Given the description of an element on the screen output the (x, y) to click on. 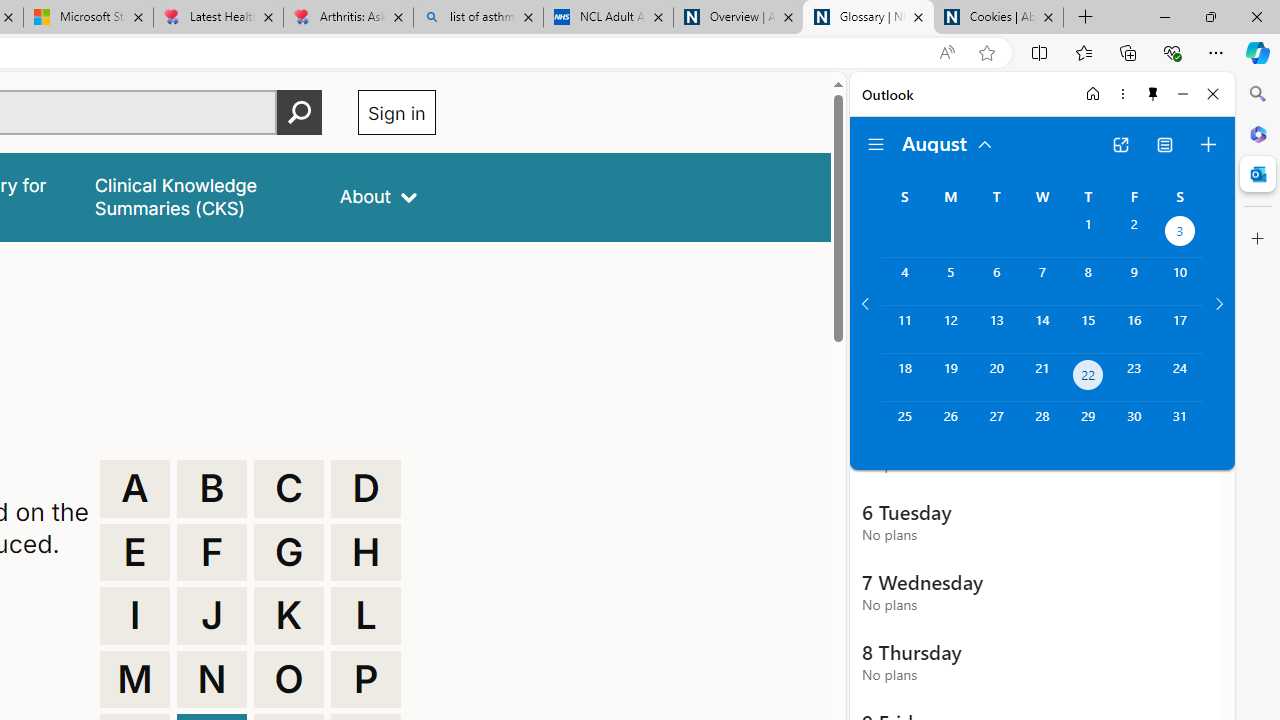
Glossary | NICE (868, 17)
B (212, 488)
M (134, 679)
New Tab (1085, 17)
Wednesday, August 28, 2024.  (1042, 425)
Close tab (1048, 16)
C (289, 488)
Close Outlook pane (1258, 174)
A (134, 488)
Monday, August 26, 2024.  (950, 425)
Friday, August 16, 2024.  (1134, 329)
More options (1122, 93)
Settings and more (Alt+F) (1215, 52)
View Switcher. Current view is Agenda view (1165, 144)
